Given the description of an element on the screen output the (x, y) to click on. 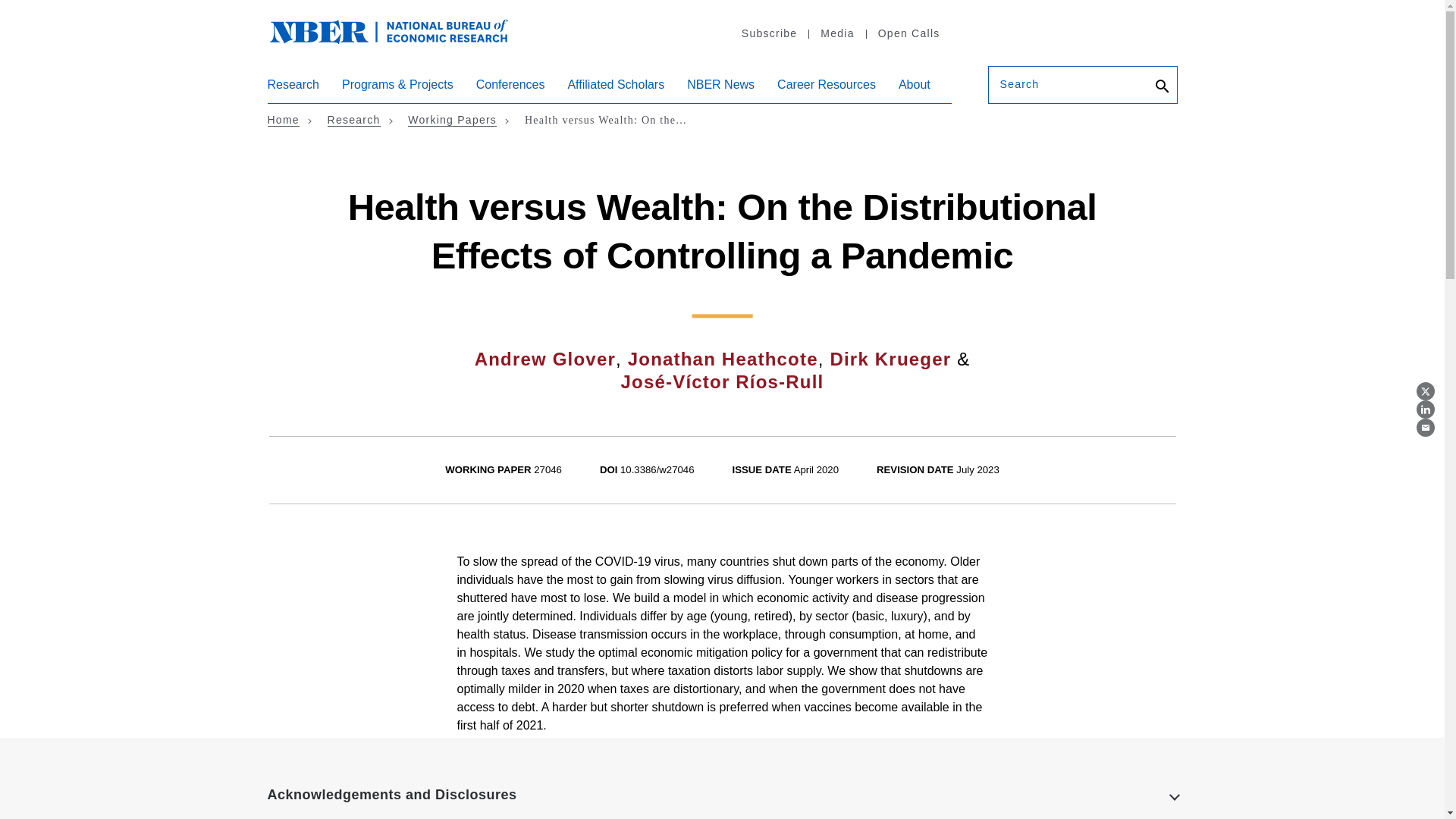
Open Calls (909, 33)
Email (1425, 427)
NBER: National Bureau of Economic Research (387, 31)
Research (292, 90)
Media (836, 33)
LinkedIn (1425, 409)
Subscribe (769, 33)
NBER: National Bureau of Economic Research (400, 39)
Twitter (1425, 391)
